Given the description of an element on the screen output the (x, y) to click on. 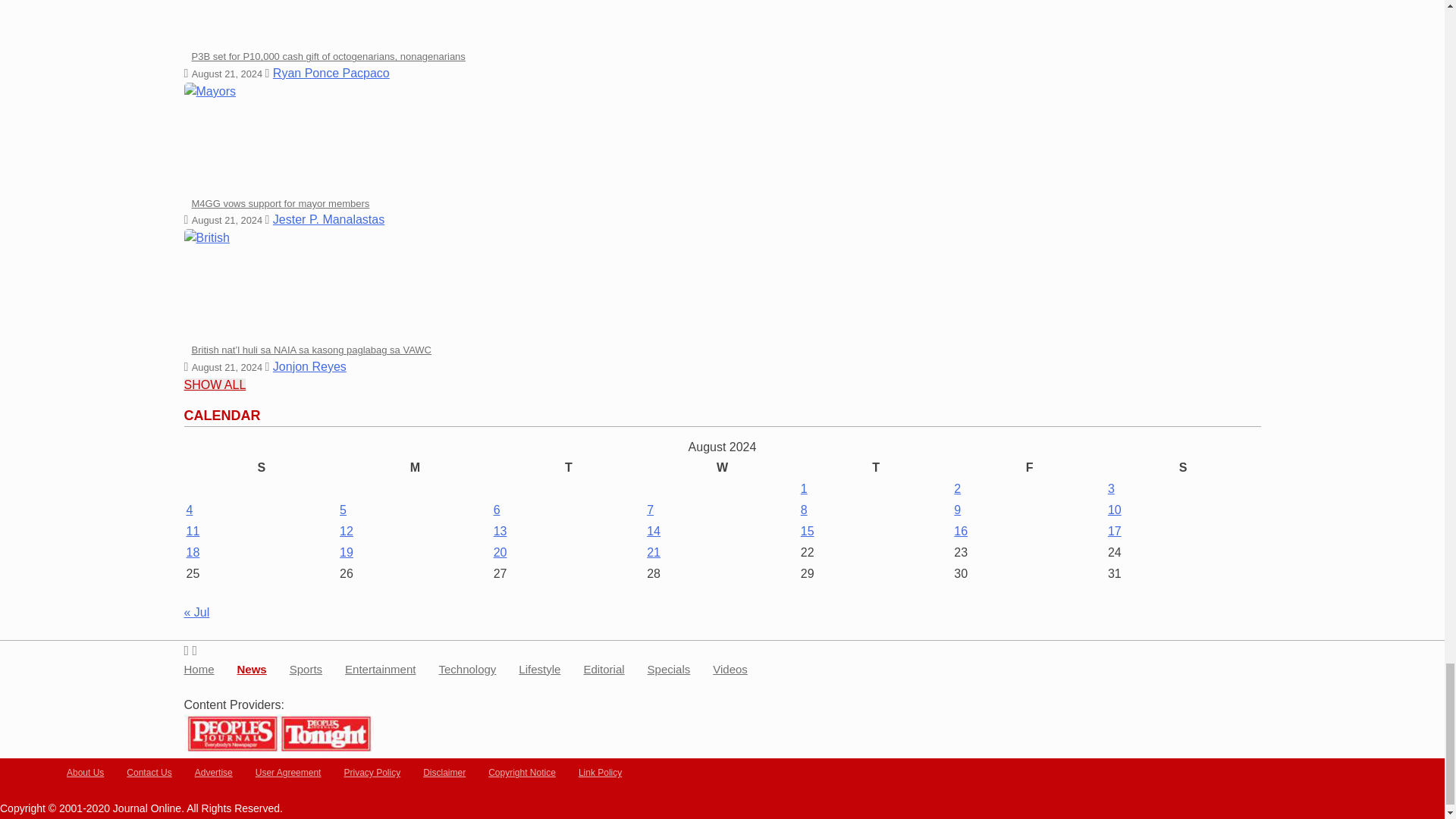
Sunday (260, 467)
Monday (415, 467)
Thursday (875, 467)
Saturday (1182, 467)
Friday (1029, 467)
Tuesday (569, 467)
Wednesday (721, 467)
